Given the description of an element on the screen output the (x, y) to click on. 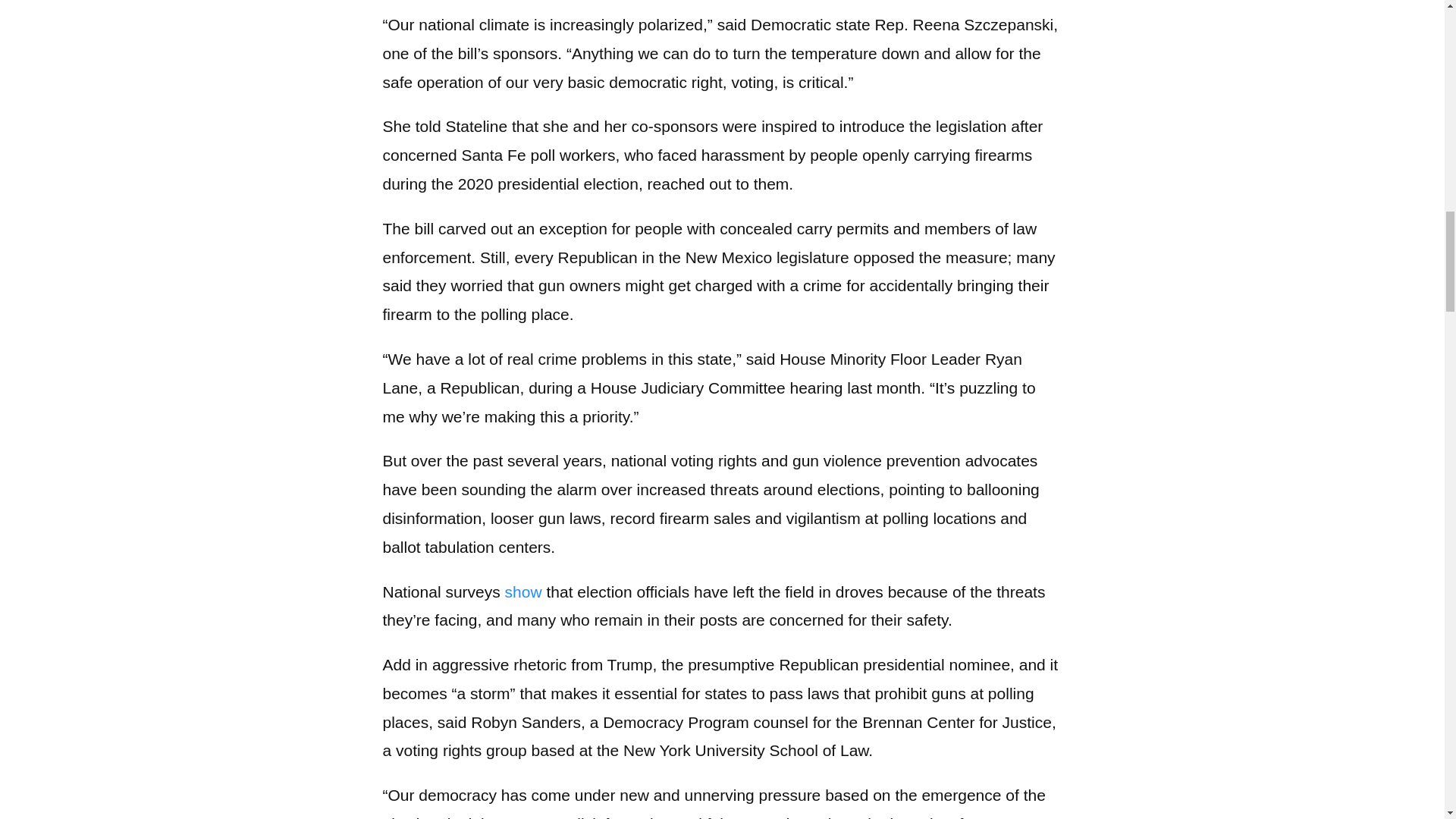
show (523, 590)
